Given the description of an element on the screen output the (x, y) to click on. 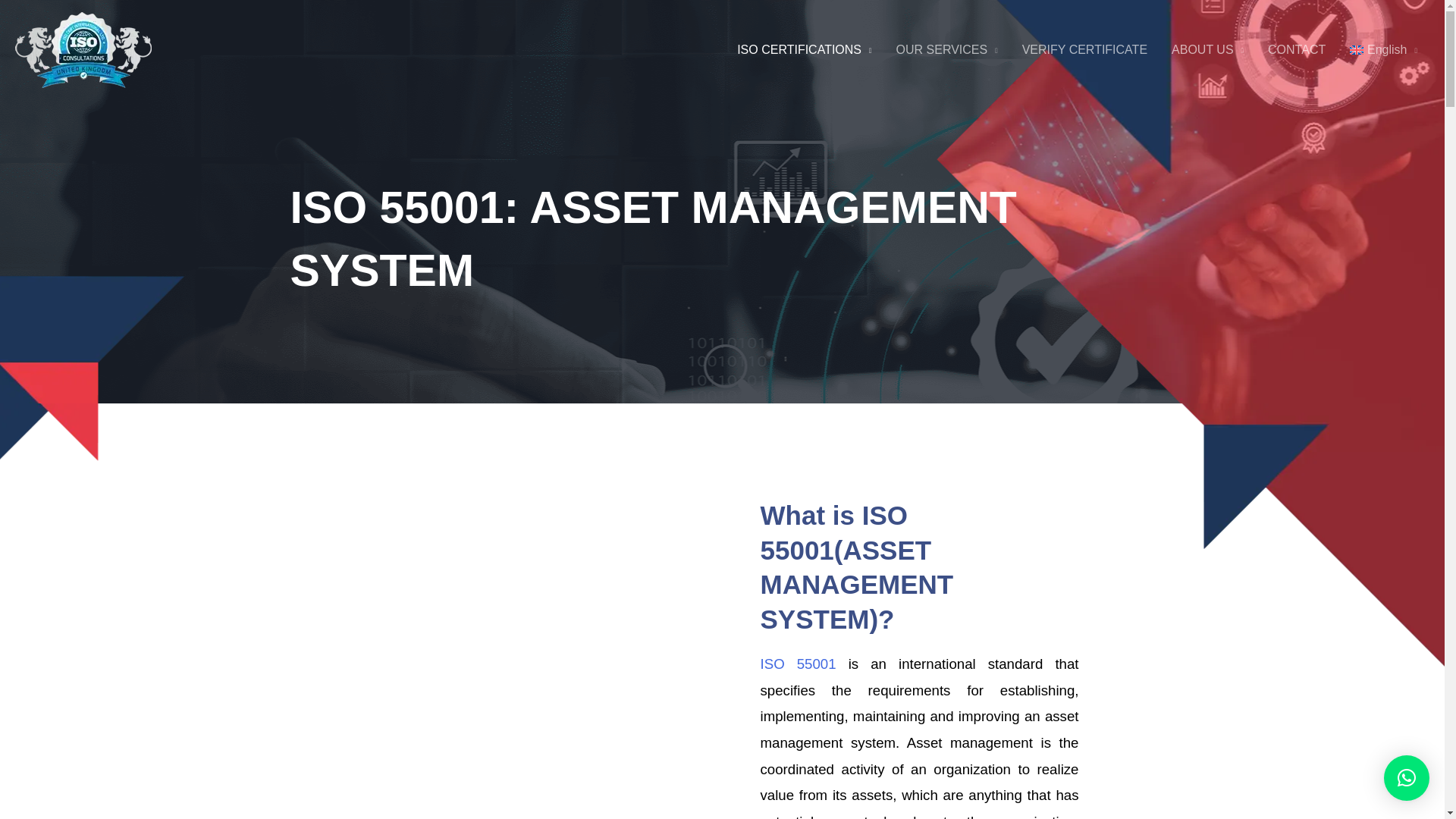
OUR SERVICES (946, 49)
ISO CERTIFICATIONS (804, 49)
English (1383, 49)
